Given the description of an element on the screen output the (x, y) to click on. 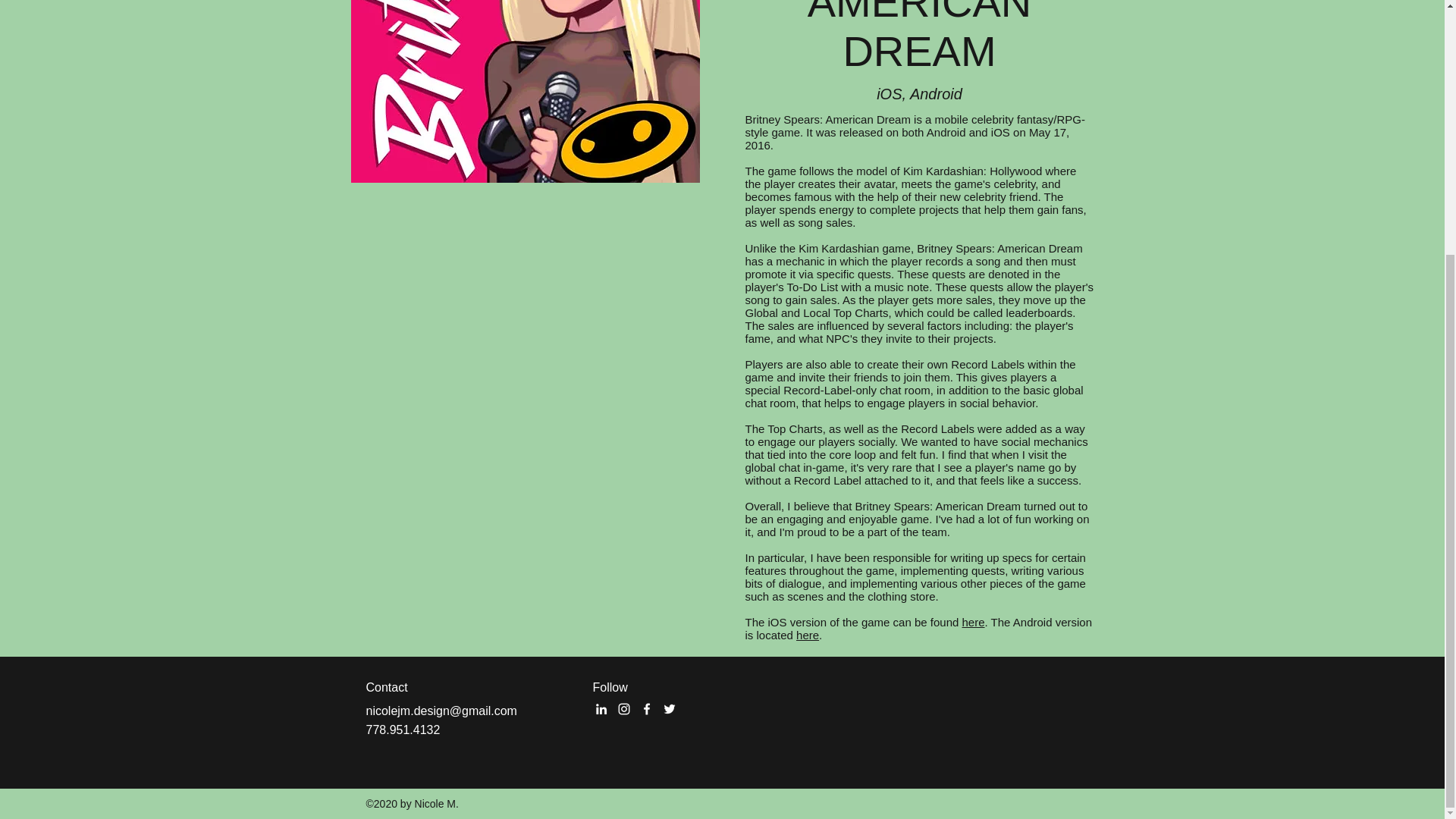
BritneyIcon.jpg (524, 91)
here (807, 634)
External YouTube (524, 315)
here (973, 621)
